Given the description of an element on the screen output the (x, y) to click on. 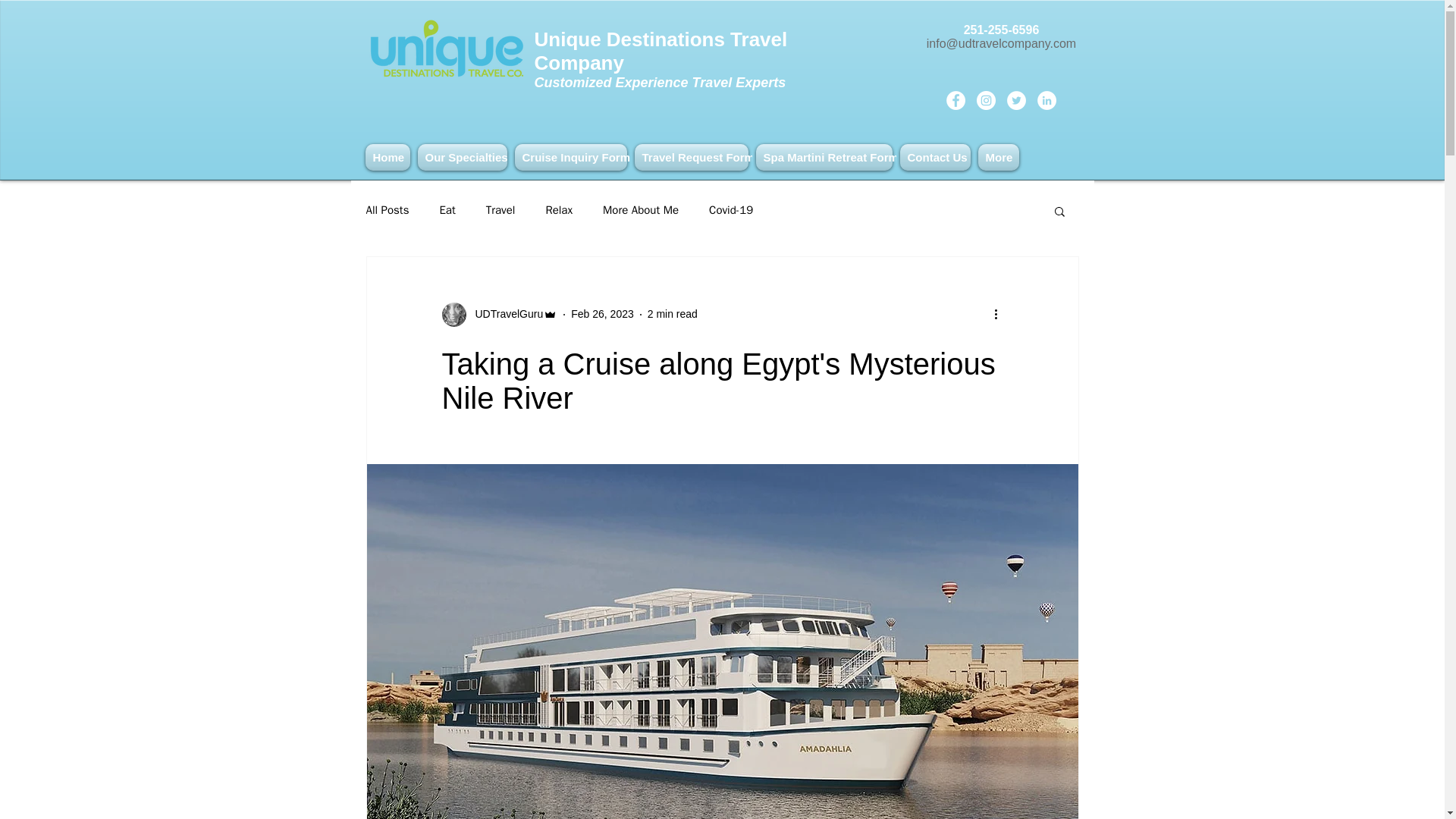
Our Specialties (462, 157)
Spa Martini Retreat Form (824, 157)
Covid-19 (730, 210)
Cruise Inquiry Form (570, 157)
Home (389, 157)
Eat (446, 210)
UDTravelGuru (504, 314)
UDTravelGuru (499, 314)
Feb 26, 2023 (601, 313)
2 min read (672, 313)
More About Me (640, 210)
All Posts (387, 210)
Travel (500, 210)
251-255-6596 (1020, 36)
Travel Request Form (691, 157)
